Given the description of an element on the screen output the (x, y) to click on. 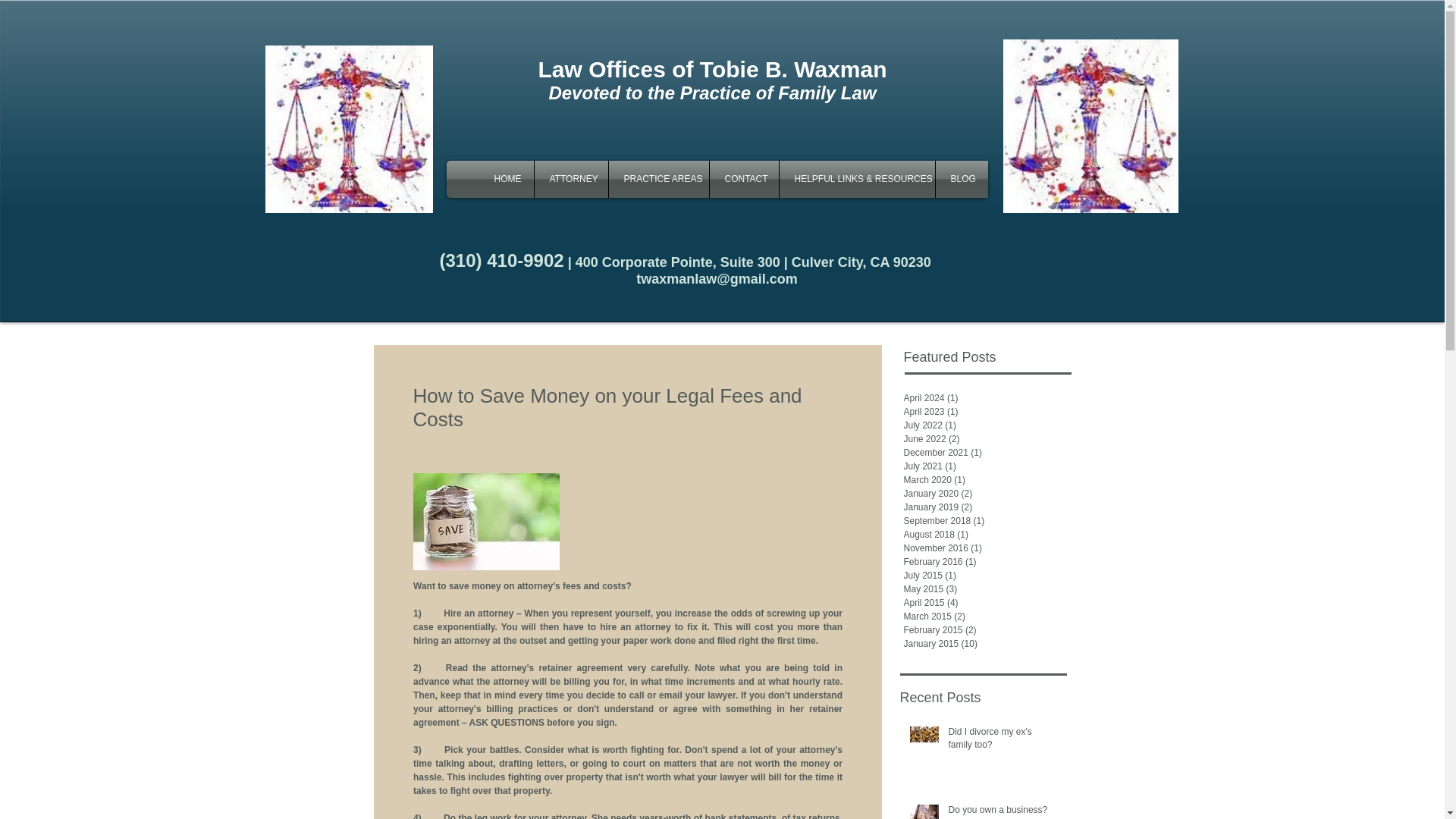
BLOG (962, 179)
ATTORNEY (570, 179)
PRACTICE AREAS (657, 179)
CONTACT (744, 179)
Did I divorce my ex's family too? (1002, 741)
Do you own a business? Want to protect it? (1002, 811)
HOME (506, 179)
